Given the description of an element on the screen output the (x, y) to click on. 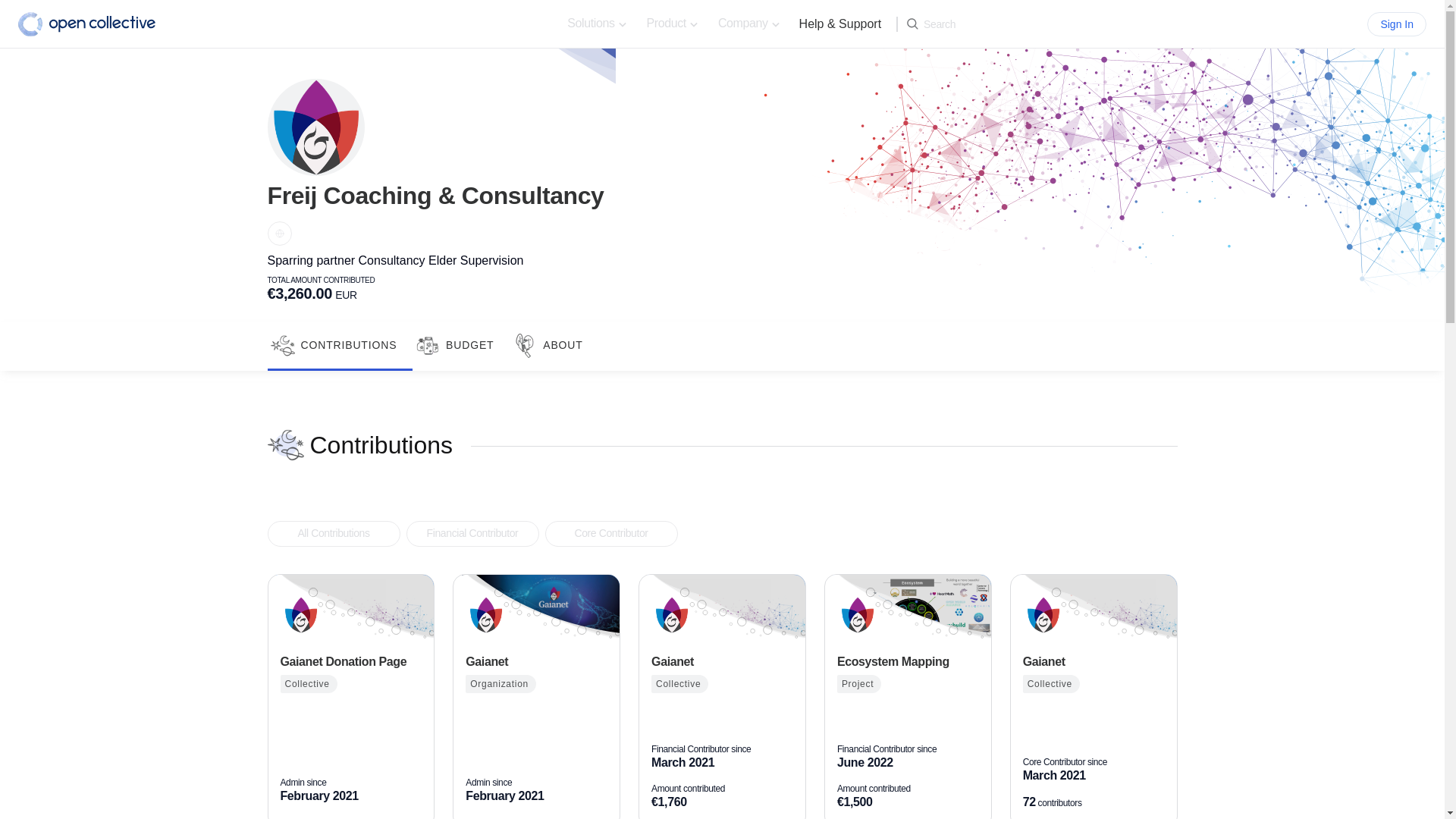
Gaianet (721, 662)
BUDGET (460, 345)
Core Contributor (610, 533)
Gaianet Donation Page (298, 614)
Gaianet Donation Page (351, 662)
Company (751, 23)
Sign In (1396, 24)
CONTRIBUTIONS (339, 345)
Ecosystem Mapping (907, 662)
Gaianet (721, 662)
Gaianet (671, 614)
Gaianet (536, 662)
Product (674, 23)
ABOUT (553, 345)
Search (930, 24)
